Given the description of an element on the screen output the (x, y) to click on. 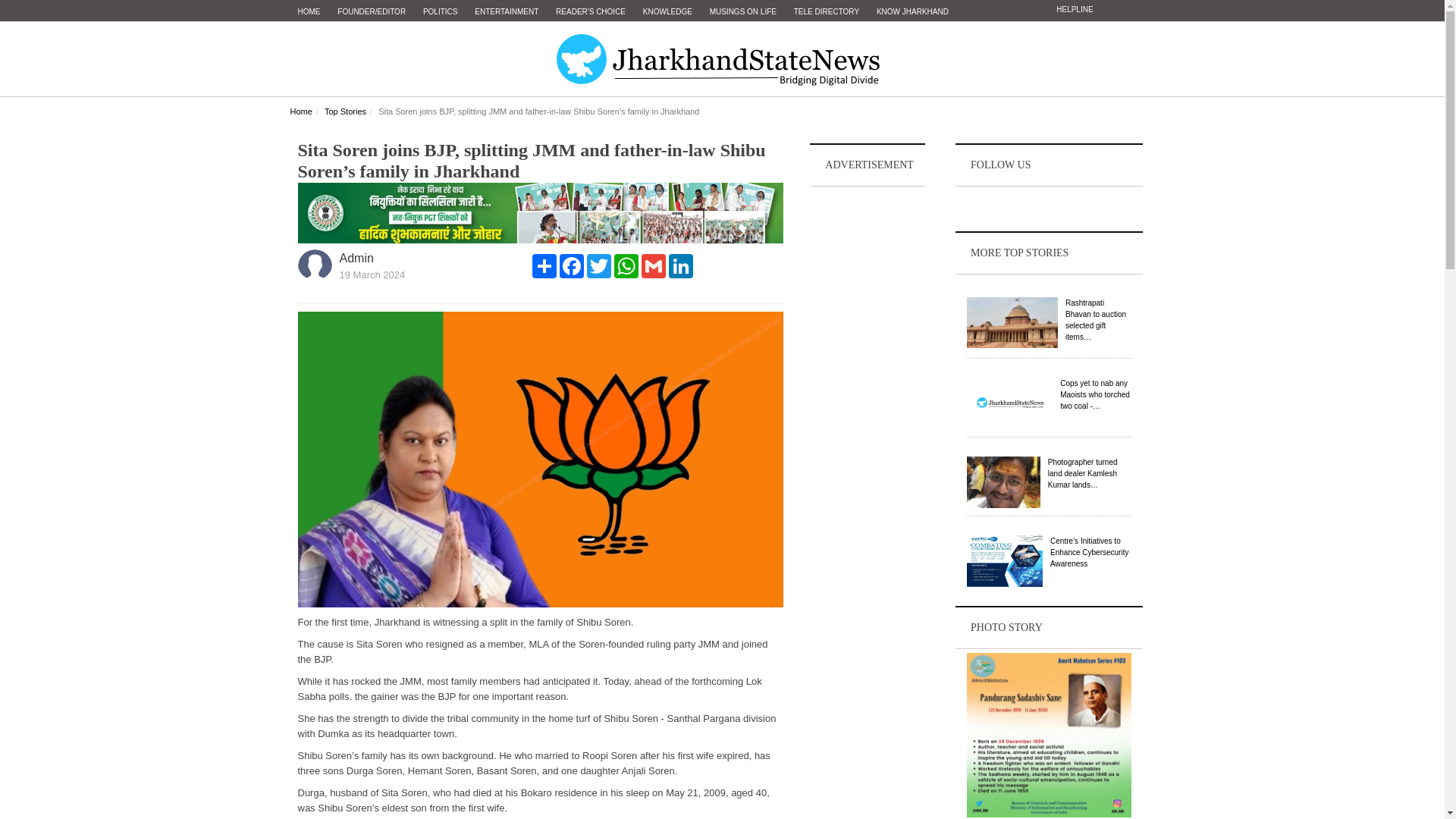
HELPLINE (1074, 9)
Top Stories (345, 111)
Home (300, 111)
Twitter (598, 265)
MUSINGS ON LIFE (742, 11)
Facebook (571, 265)
LinkedIn (680, 265)
KNOW JHARKHAND (912, 11)
HOME (308, 11)
TELE DIRECTORY (826, 11)
ENTERTAINMENT (506, 11)
WhatsApp (626, 265)
Gmail (653, 265)
KNOWLEDGE (667, 11)
POLITICS (439, 11)
